Given the description of an element on the screen output the (x, y) to click on. 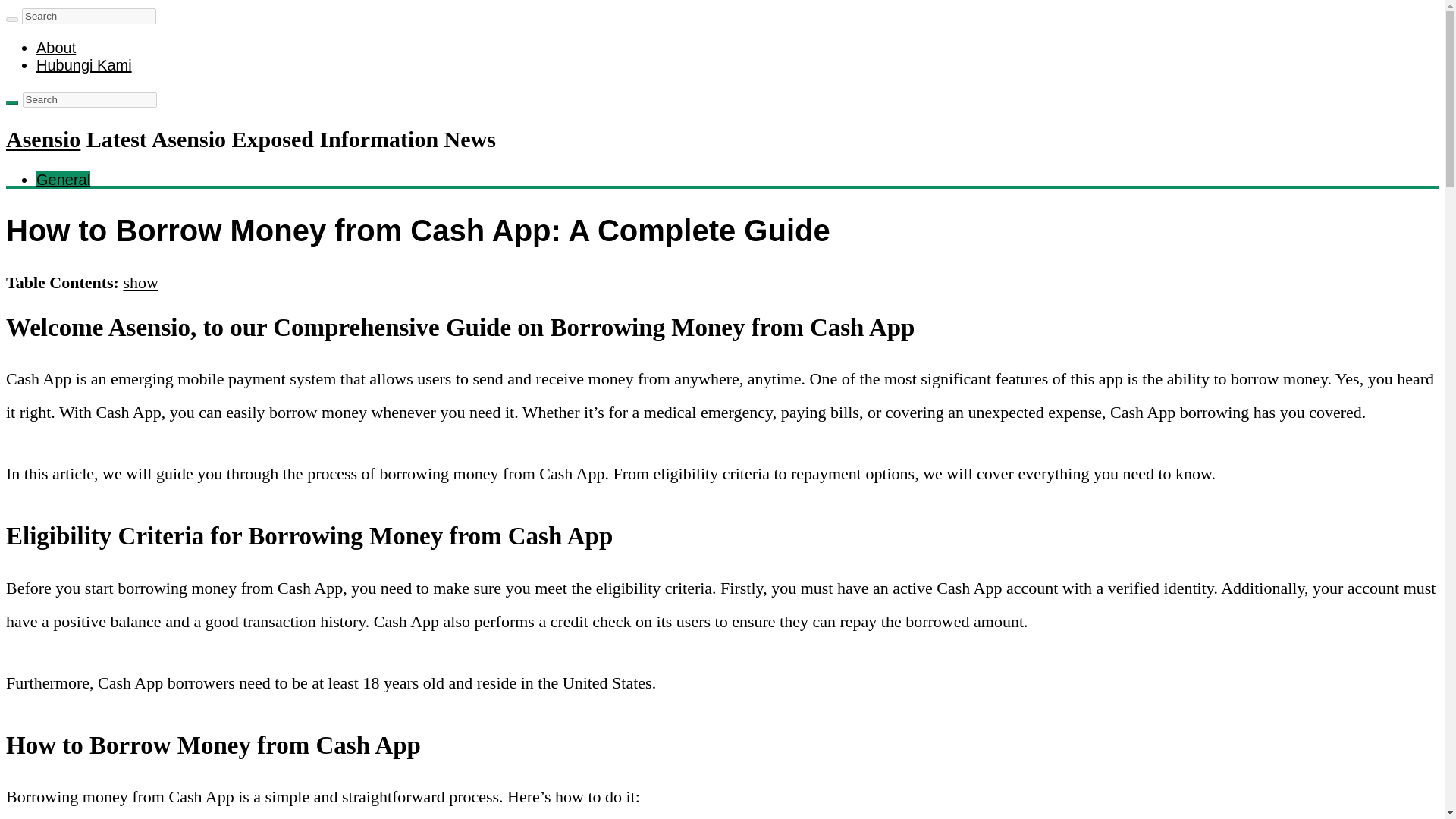
Search (88, 16)
General (63, 179)
Search (90, 99)
Search (11, 102)
Search (90, 99)
Search (88, 16)
Search (11, 19)
show (139, 281)
About (55, 47)
Search (90, 99)
Asensio (42, 138)
Hubungi Kami (84, 64)
